Given the description of an element on the screen output the (x, y) to click on. 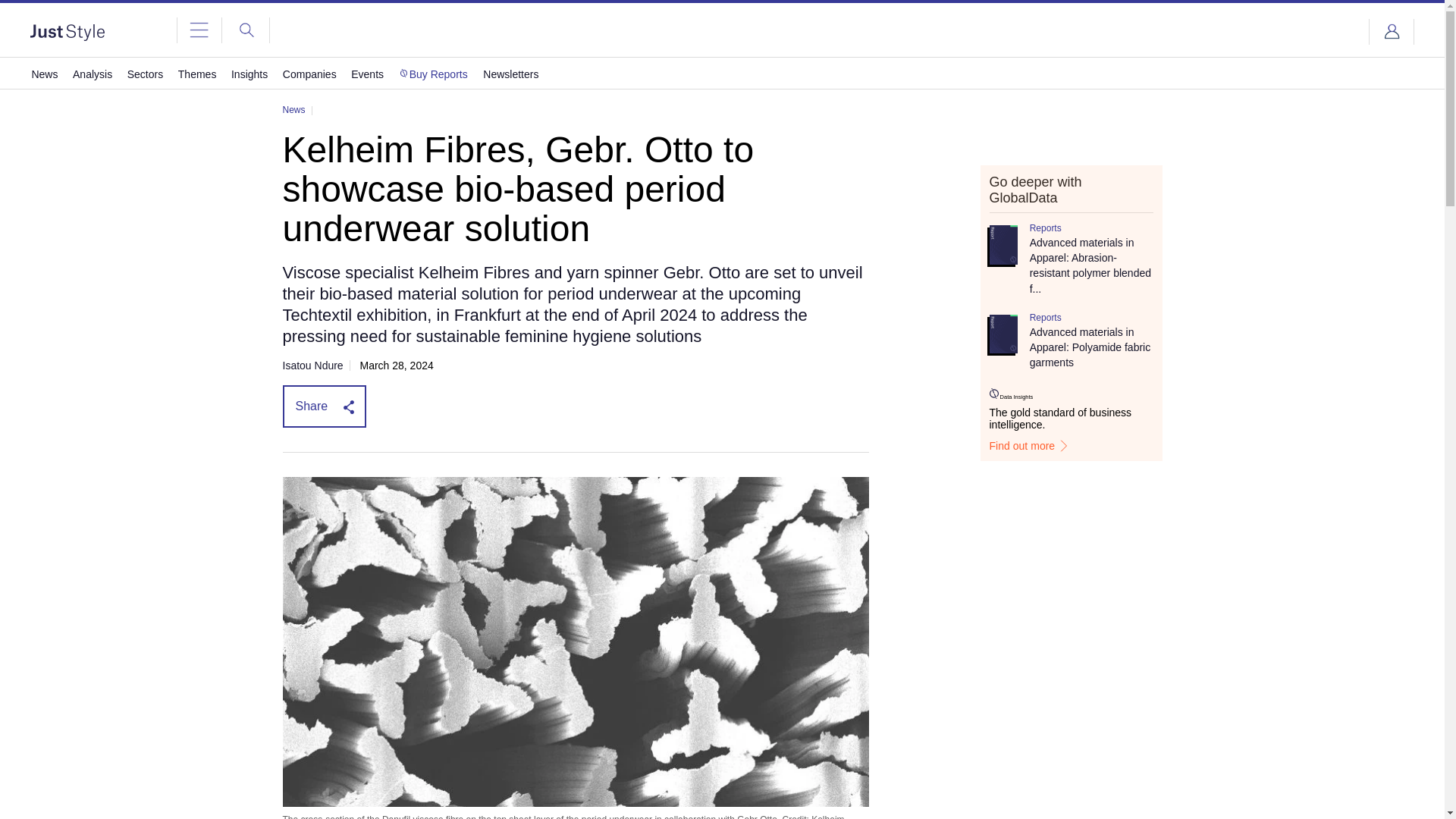
Login (1391, 31)
